Given the description of an element on the screen output the (x, y) to click on. 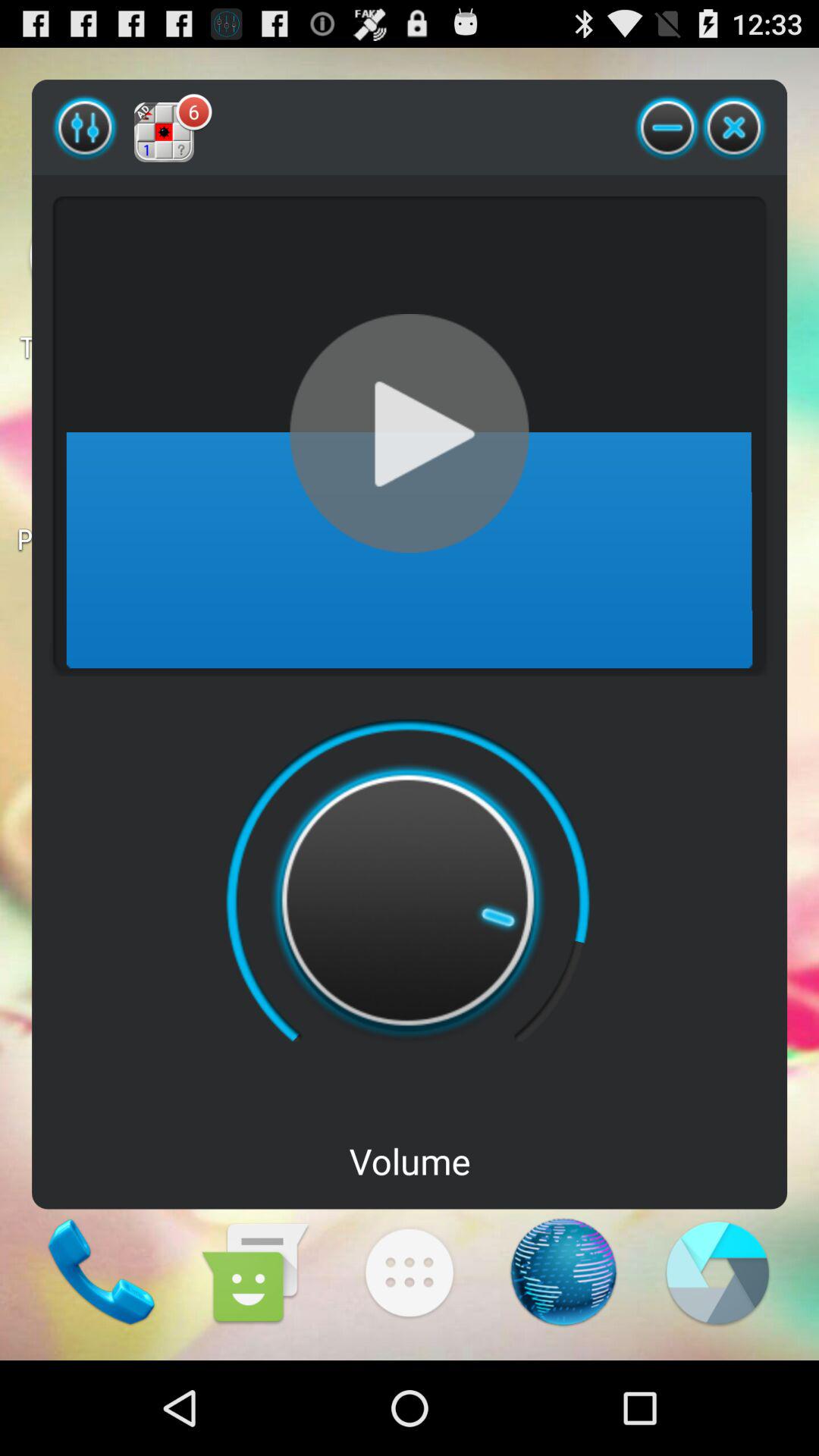
choose the icon to the right of the 6 icon (667, 126)
